Given the description of an element on the screen output the (x, y) to click on. 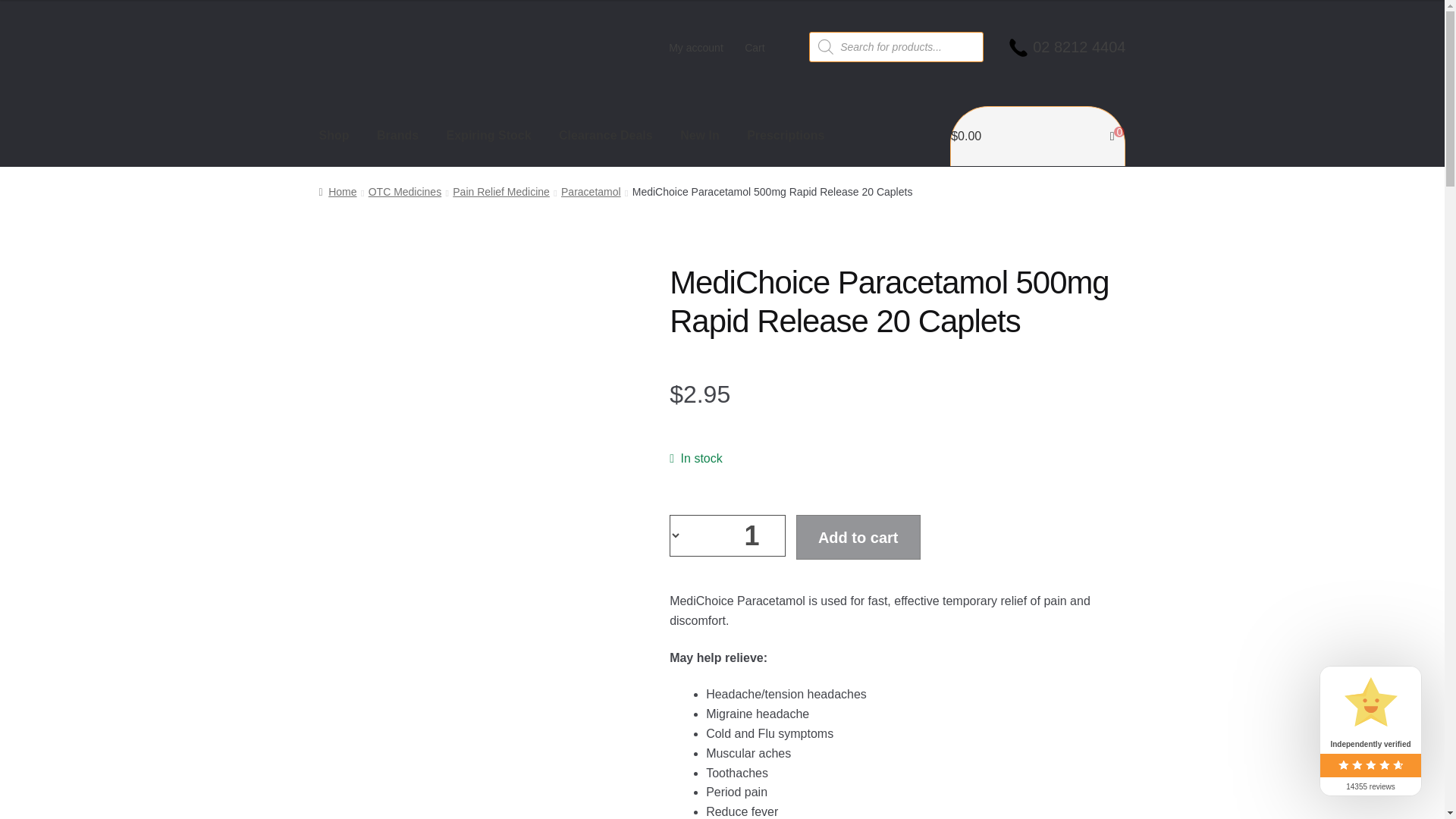
Shop (334, 135)
My account (695, 47)
New In (700, 135)
View your shopping cart (1037, 136)
Home (337, 191)
Brands (397, 135)
02 8212 4404 (1078, 70)
Pain Relief Medicine (501, 191)
Paracetamol (590, 191)
